Given the description of an element on the screen output the (x, y) to click on. 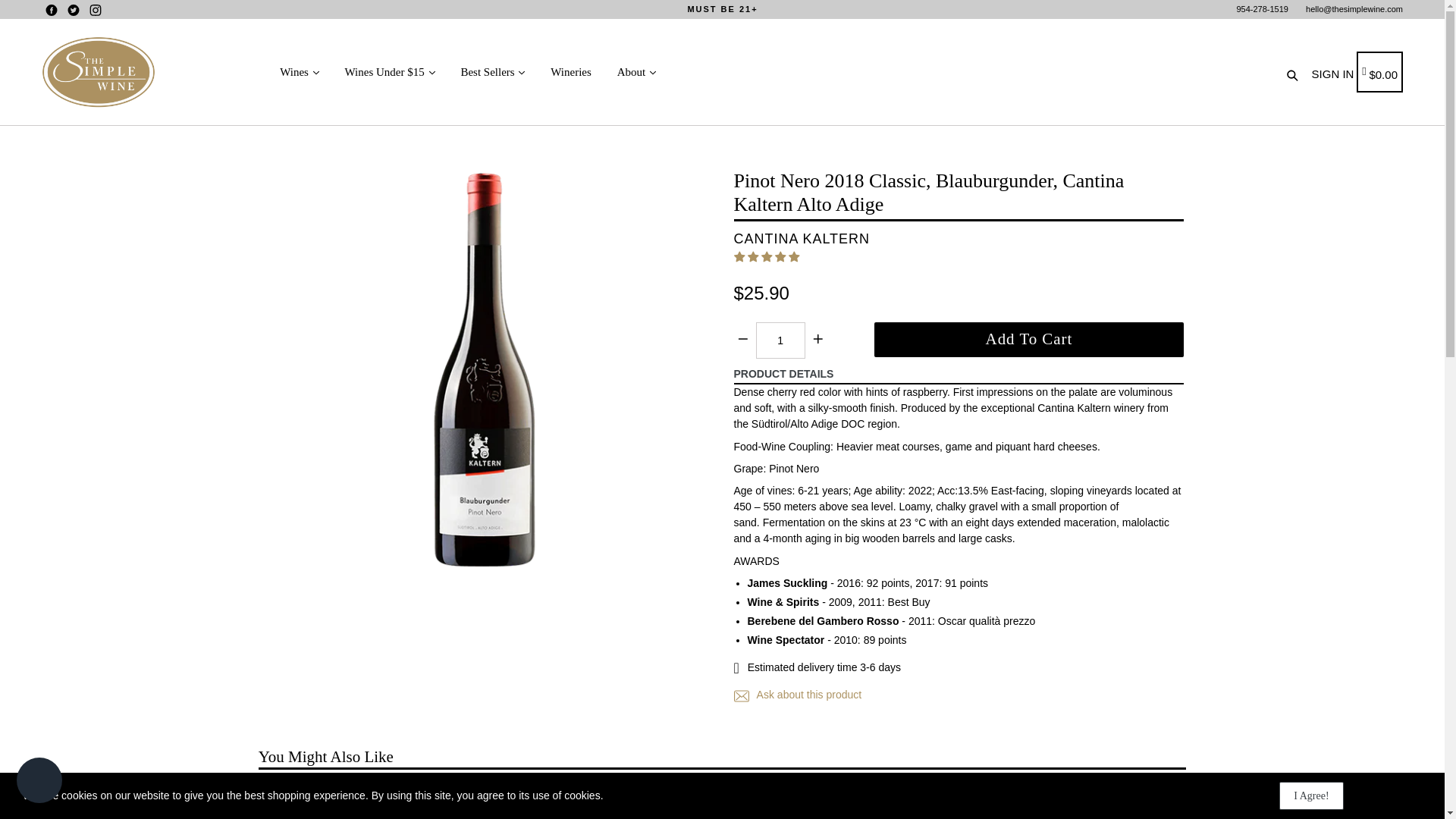
The Simple Wine on Twitter (73, 10)
1 (780, 340)
The Simple Wine on Facebook (51, 10)
The Simple Wine on Instagram (94, 10)
Shopify online store chat (38, 781)
